Given the description of an element on the screen output the (x, y) to click on. 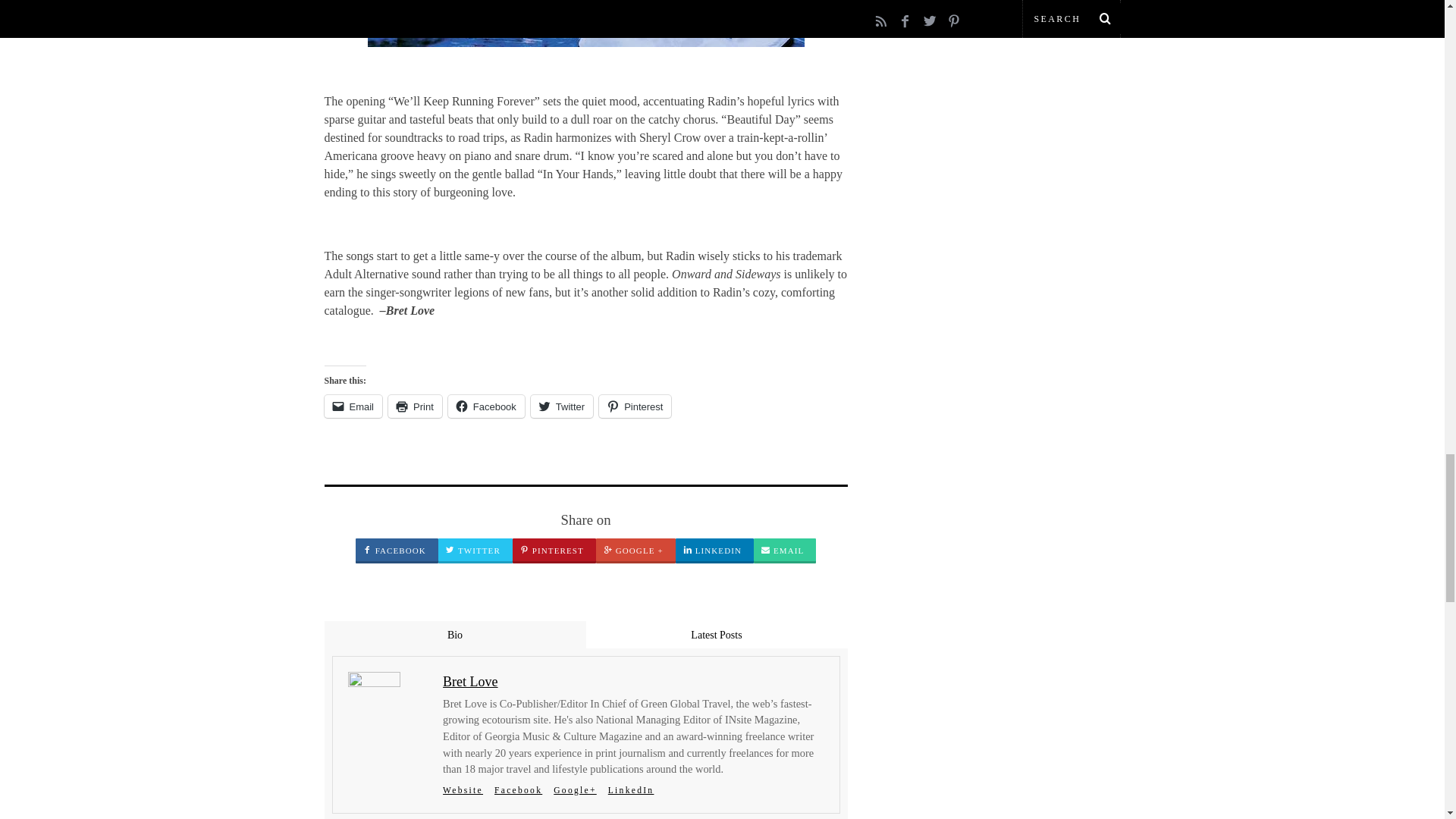
Click to share on Pinterest (634, 405)
Click to print (415, 405)
Click to share on Facebook (486, 405)
Click to email a link to a friend (353, 405)
Click to share on Twitter (561, 405)
